Given the description of an element on the screen output the (x, y) to click on. 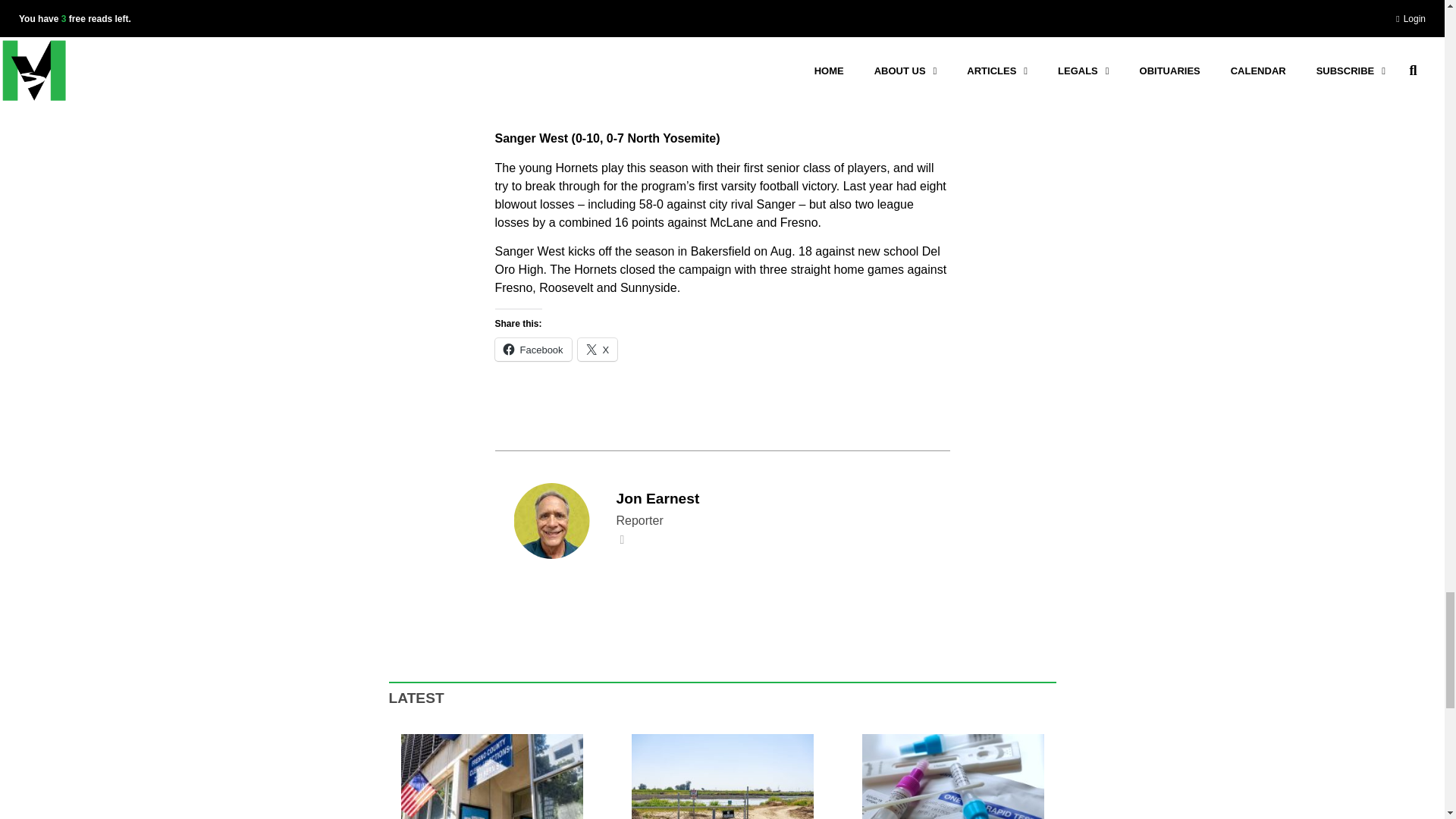
Click to share on Facebook (532, 349)
Click to share on X (597, 349)
